Given the description of an element on the screen output the (x, y) to click on. 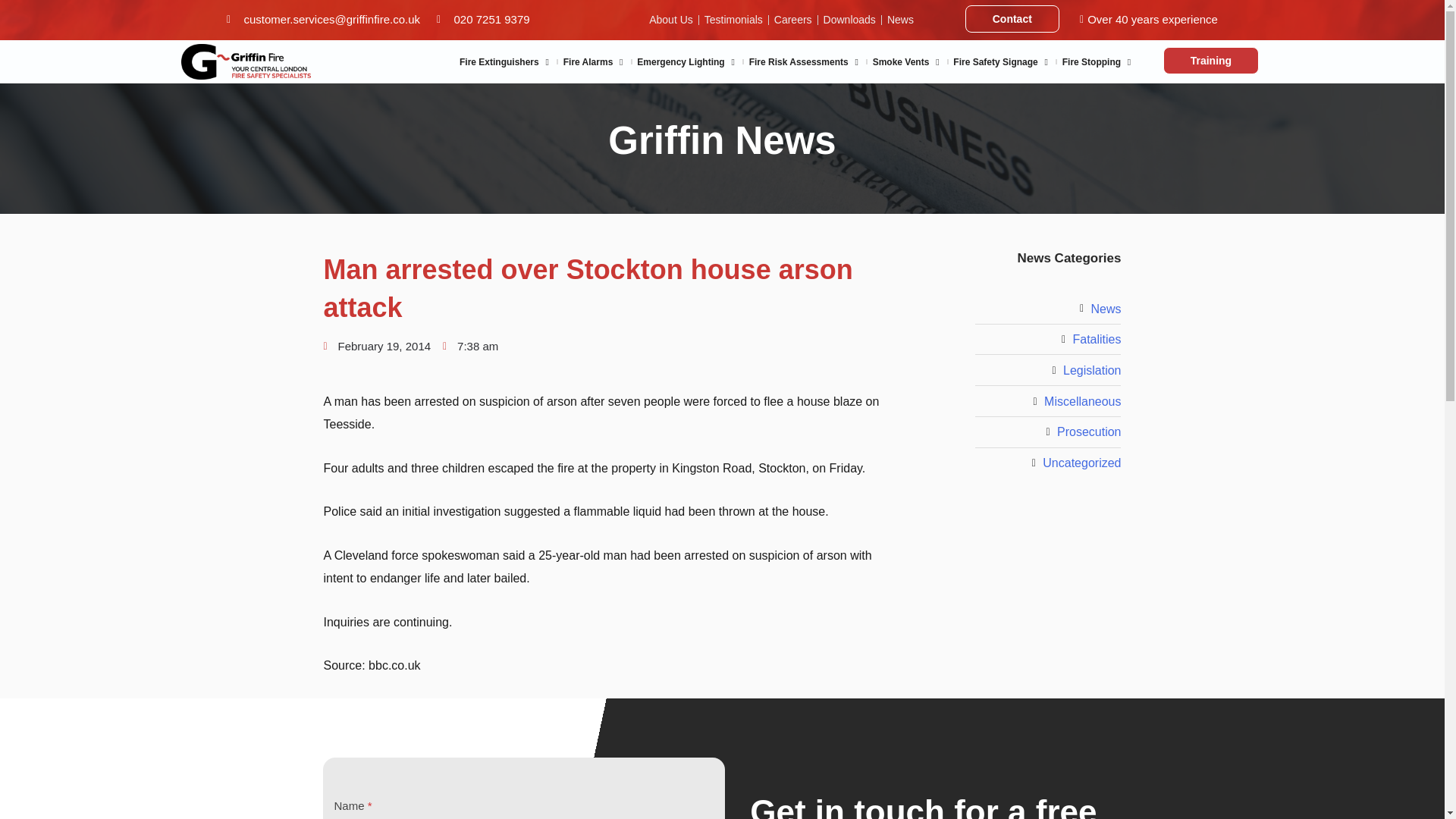
Contact (1012, 18)
Testimonials (733, 19)
Downloads (850, 19)
Over 40 years experience (1143, 19)
About Us (671, 19)
020 7251 9379 (482, 19)
News (900, 19)
Careers (793, 19)
